Given the description of an element on the screen output the (x, y) to click on. 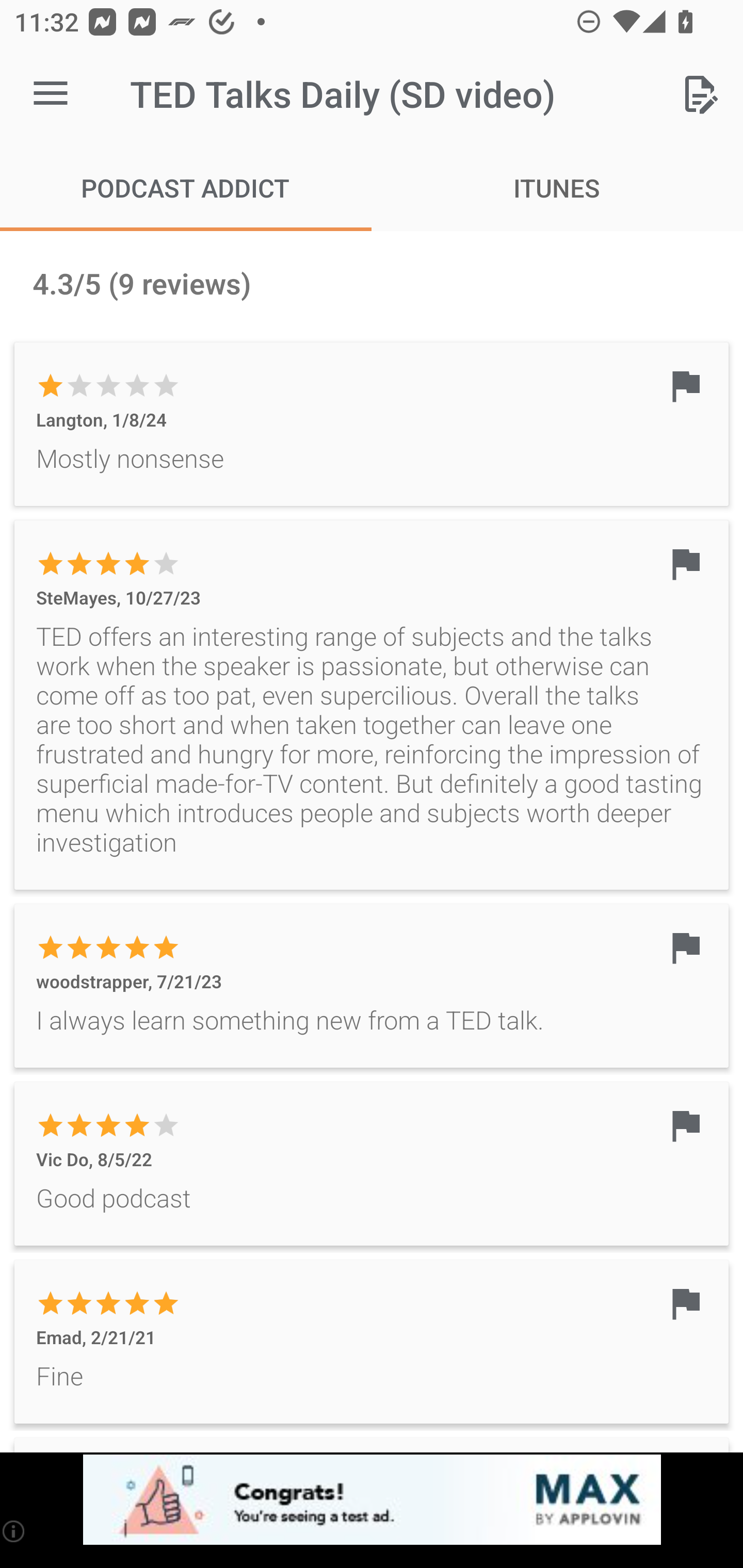
Open navigation sidebar (50, 93)
Rate this podcast (699, 93)
iTunes ITUNES (557, 187)
Flag as inappropriate (684, 385)
Flag as inappropriate (684, 563)
Flag as inappropriate (684, 947)
Flag as inappropriate (684, 1125)
Flag as inappropriate (684, 1302)
app-monetization (371, 1500)
(i) (14, 1531)
